Given the description of an element on the screen output the (x, y) to click on. 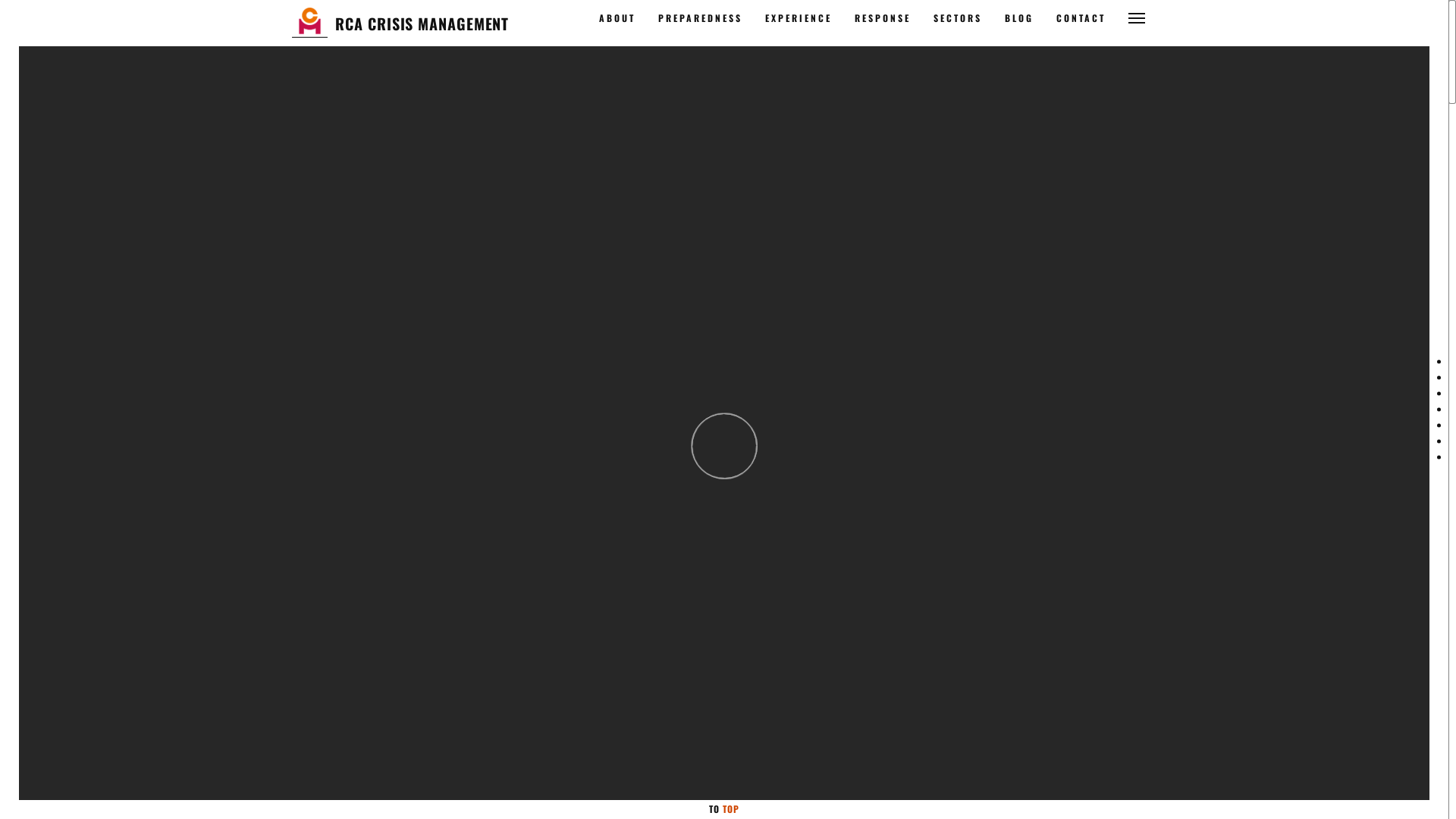
ABOUT Element type: text (617, 17)
BLOG Element type: text (1018, 17)
CONTACT Element type: text (1080, 17)
SECTORS Element type: text (957, 17)
RCA CRISIS MANAGEMENT Element type: text (421, 23)
EXPERIENCE Element type: text (798, 17)
PREPAREDNESS Element type: text (700, 17)
TO TOP Element type: text (724, 808)
RESPONSE Element type: text (882, 17)
